Given the description of an element on the screen output the (x, y) to click on. 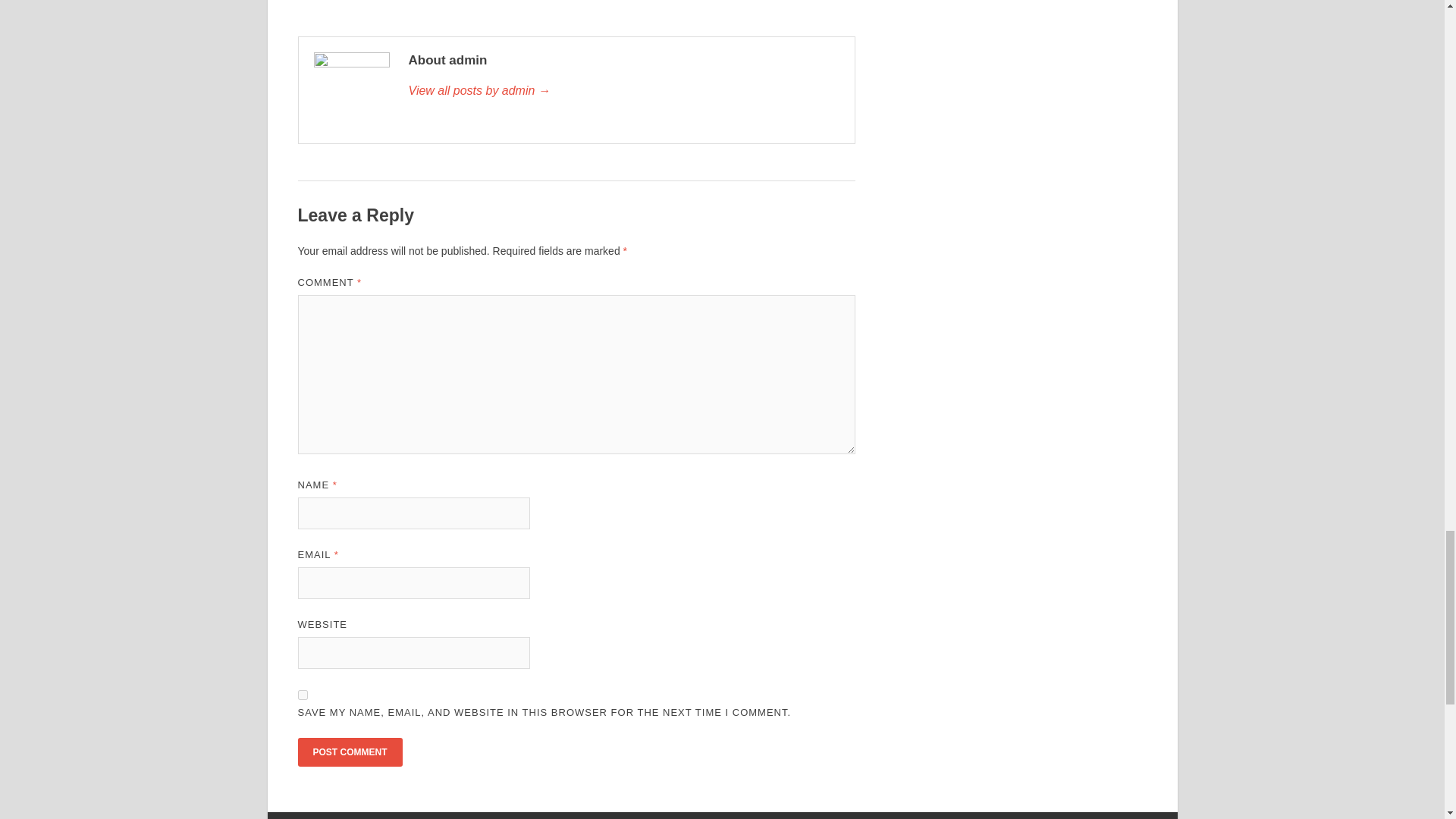
Post Comment (349, 751)
admin (622, 90)
yes (302, 695)
